Given the description of an element on the screen output the (x, y) to click on. 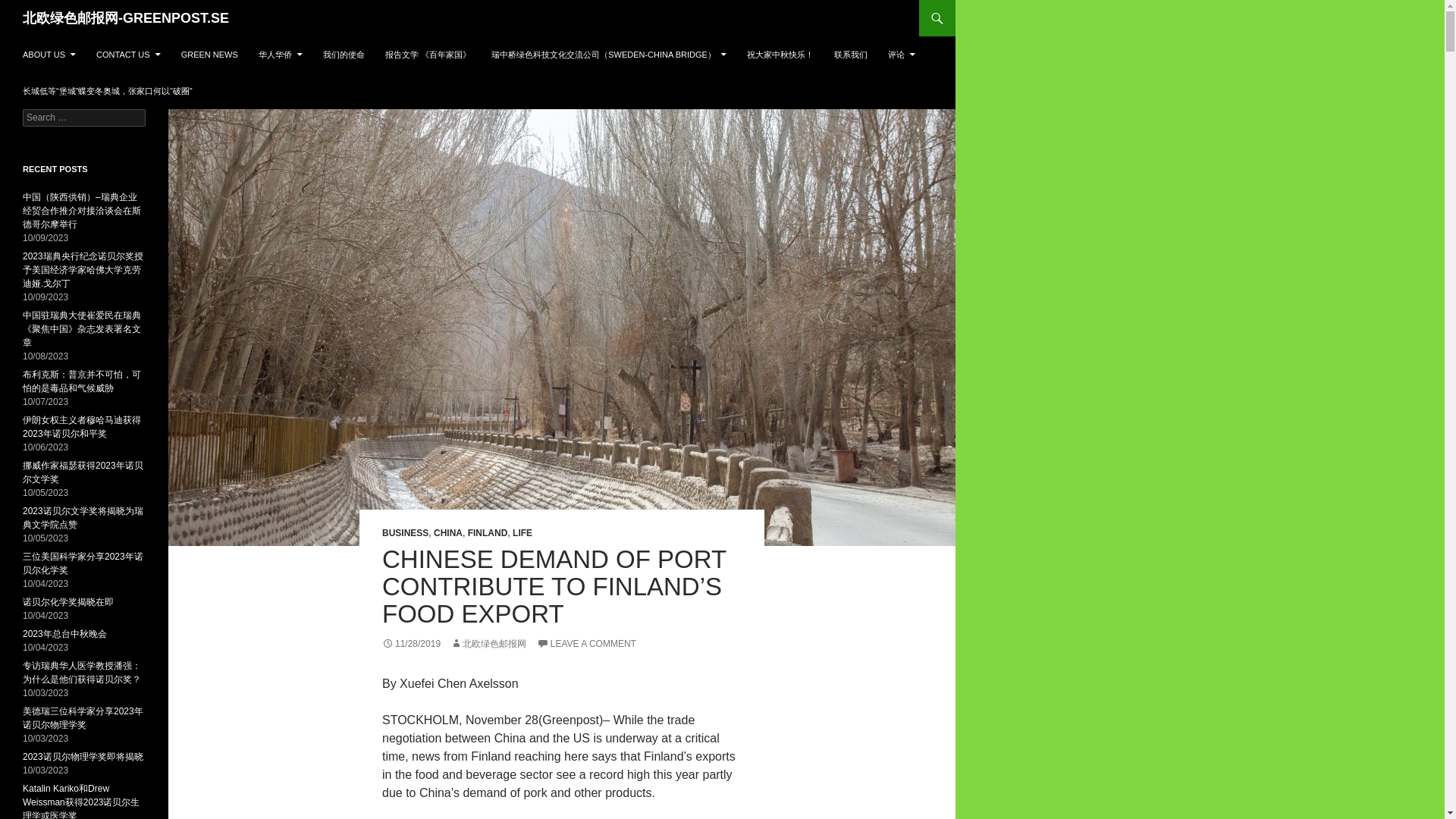
CONTACT US (128, 54)
ABOUT US (48, 54)
GREEN NEWS (209, 54)
